Given the description of an element on the screen output the (x, y) to click on. 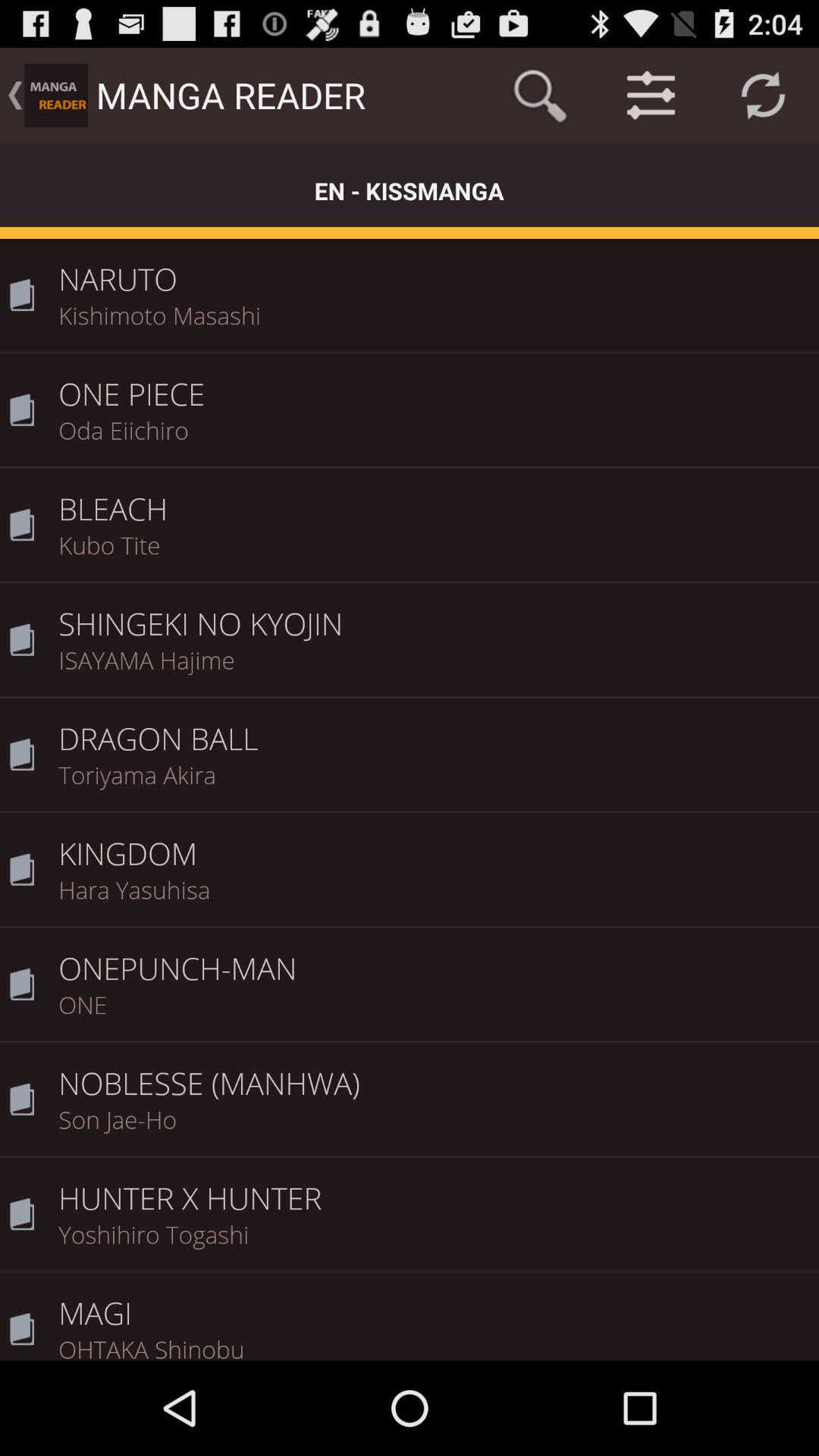
jump to the son jae-ho (433, 1129)
